Given the description of an element on the screen output the (x, y) to click on. 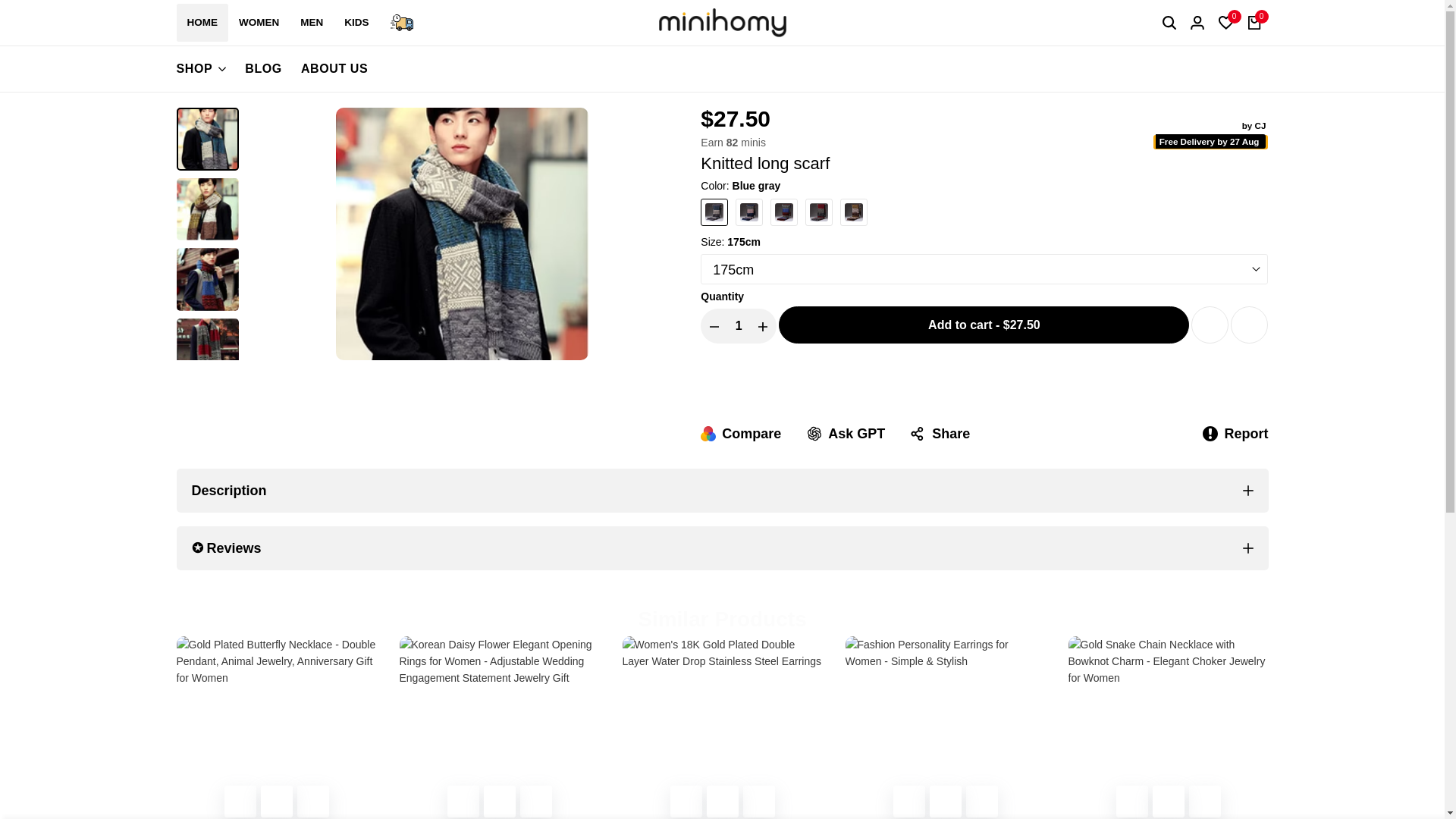
0 (1253, 22)
WOMEN (258, 22)
Track Your Order (401, 22)
KIDS (355, 22)
HOME (202, 22)
Add to Wishlist (1209, 324)
175cm (984, 268)
BLOG (263, 68)
